Given the description of an element on the screen output the (x, y) to click on. 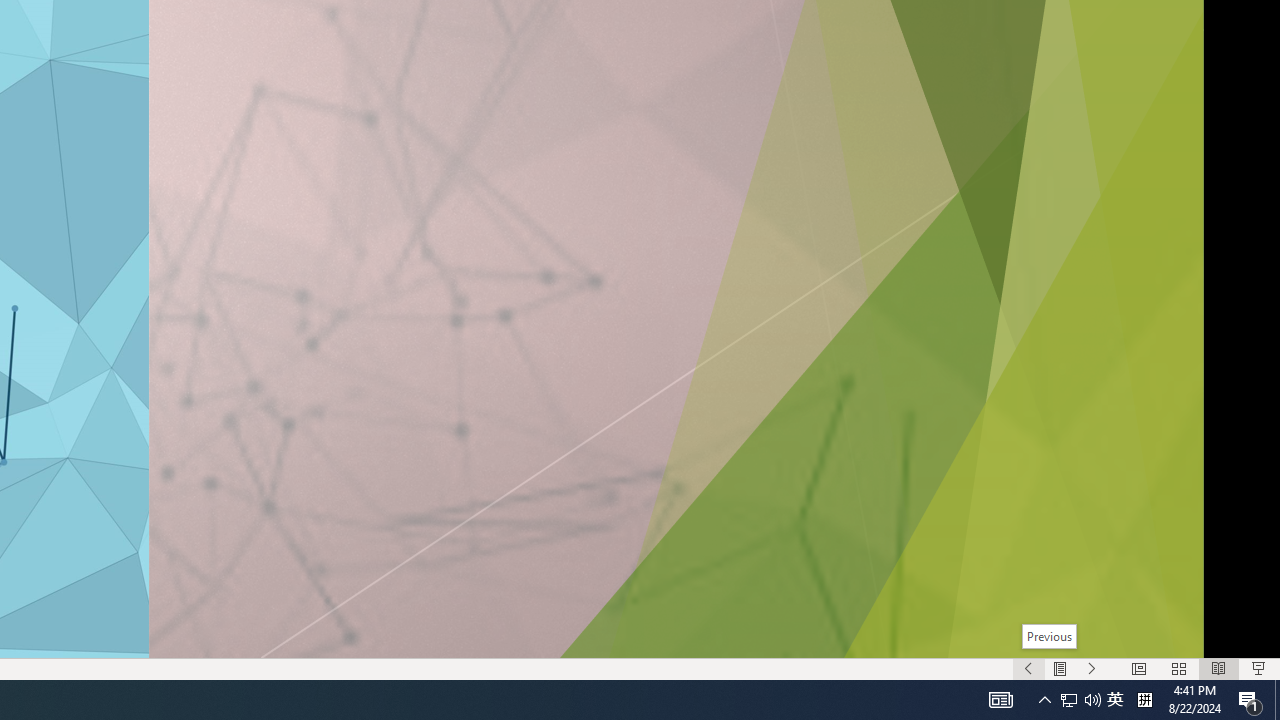
Menu On (1060, 668)
Slide Show Previous On (1028, 668)
Slide Show Next On (1092, 668)
